Given the description of an element on the screen output the (x, y) to click on. 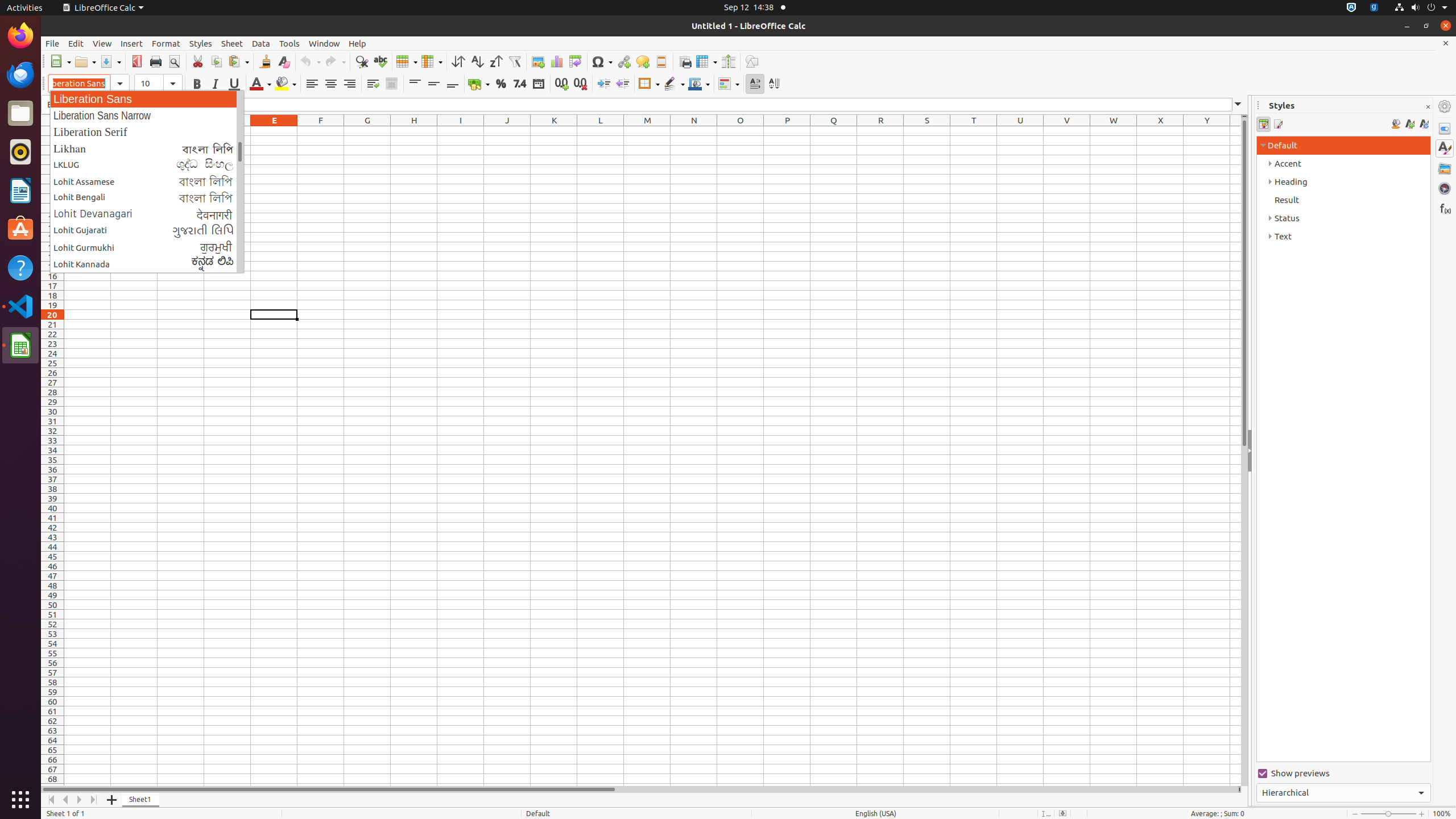
Edit Element type: menu (75, 43)
Symbol Element type: push-button (601, 61)
Z1 Element type: table-cell (1235, 130)
Align Center Element type: push-button (330, 83)
Print Area Element type: push-button (684, 61)
